Given the description of an element on the screen output the (x, y) to click on. 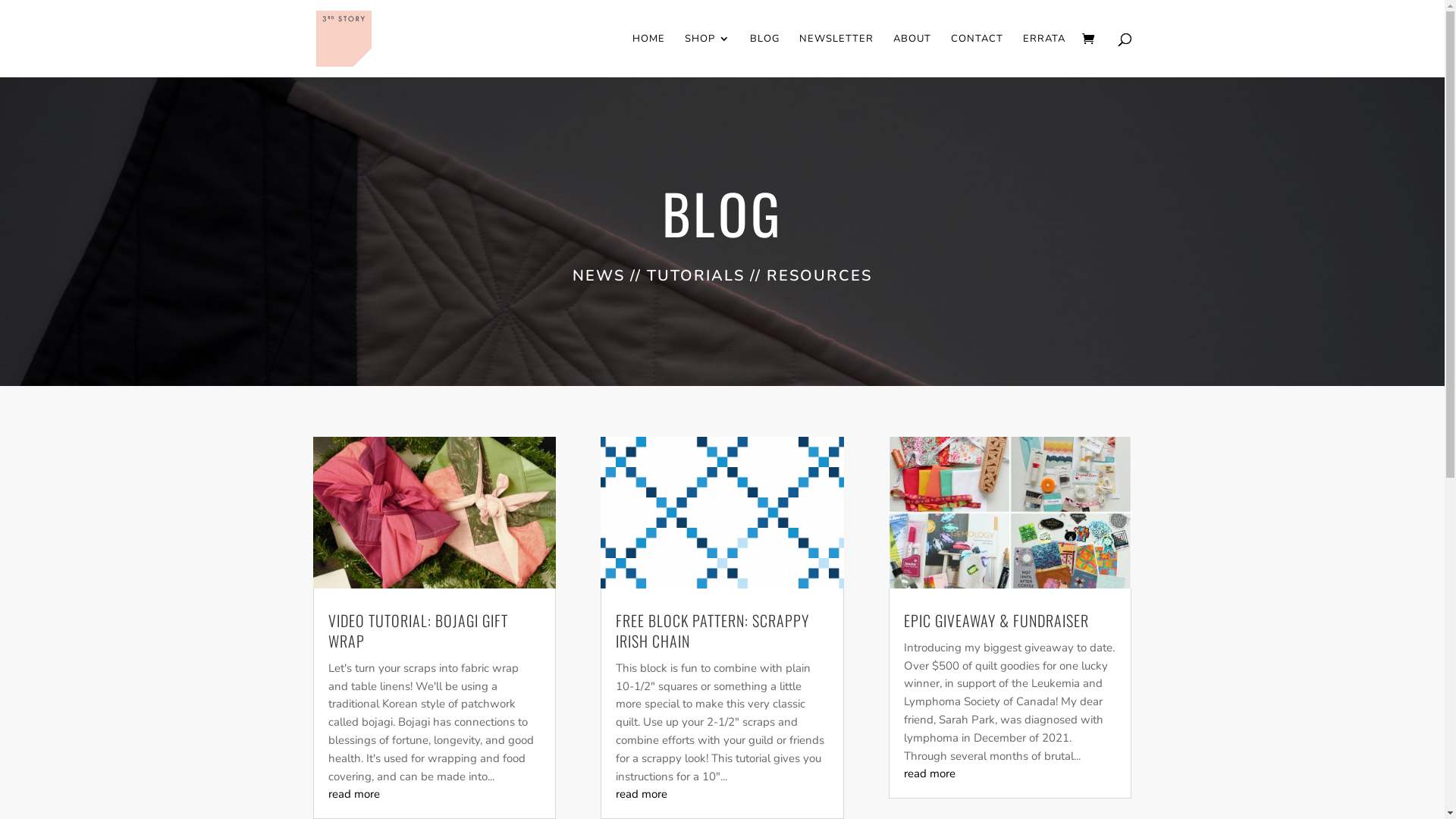
read more Element type: text (929, 773)
read more Element type: text (353, 793)
BLOG Element type: text (763, 55)
EPIC GIVEAWAY & FUNDRAISER Element type: text (995, 619)
read more Element type: text (641, 793)
VIDEO TUTORIAL: BOJAGI GIFT WRAP Element type: text (417, 630)
CONTACT Element type: text (976, 55)
FREE BLOCK PATTERN: SCRAPPY IRISH CHAIN Element type: text (712, 630)
HOME Element type: text (648, 55)
NEWSLETTER Element type: text (836, 55)
ERRATA Element type: text (1043, 55)
SHOP Element type: text (706, 55)
ABOUT Element type: text (912, 55)
